Given the description of an element on the screen output the (x, y) to click on. 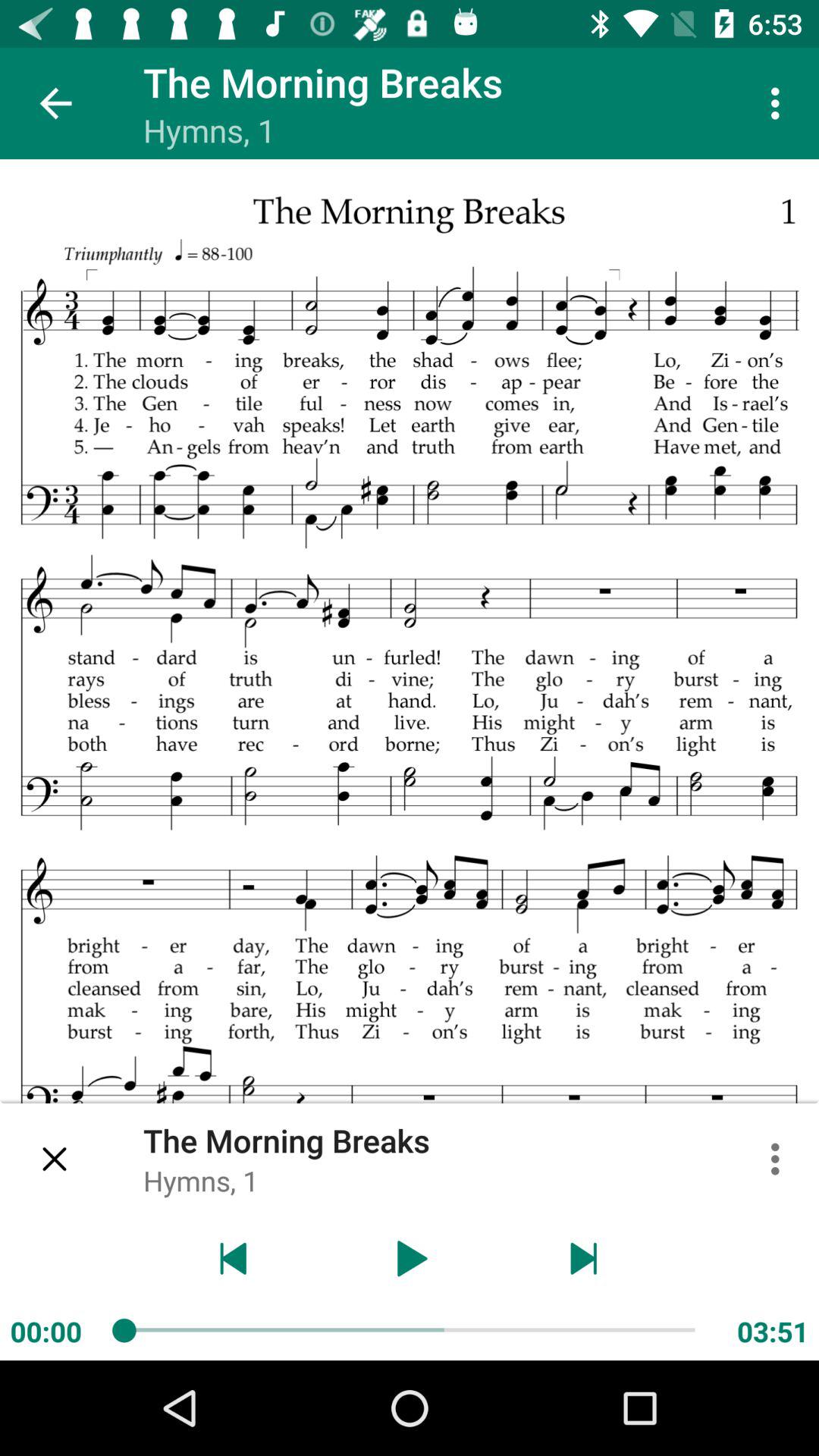
pressing this button moves me to the last page of the piece (584, 1258)
